Given the description of an element on the screen output the (x, y) to click on. 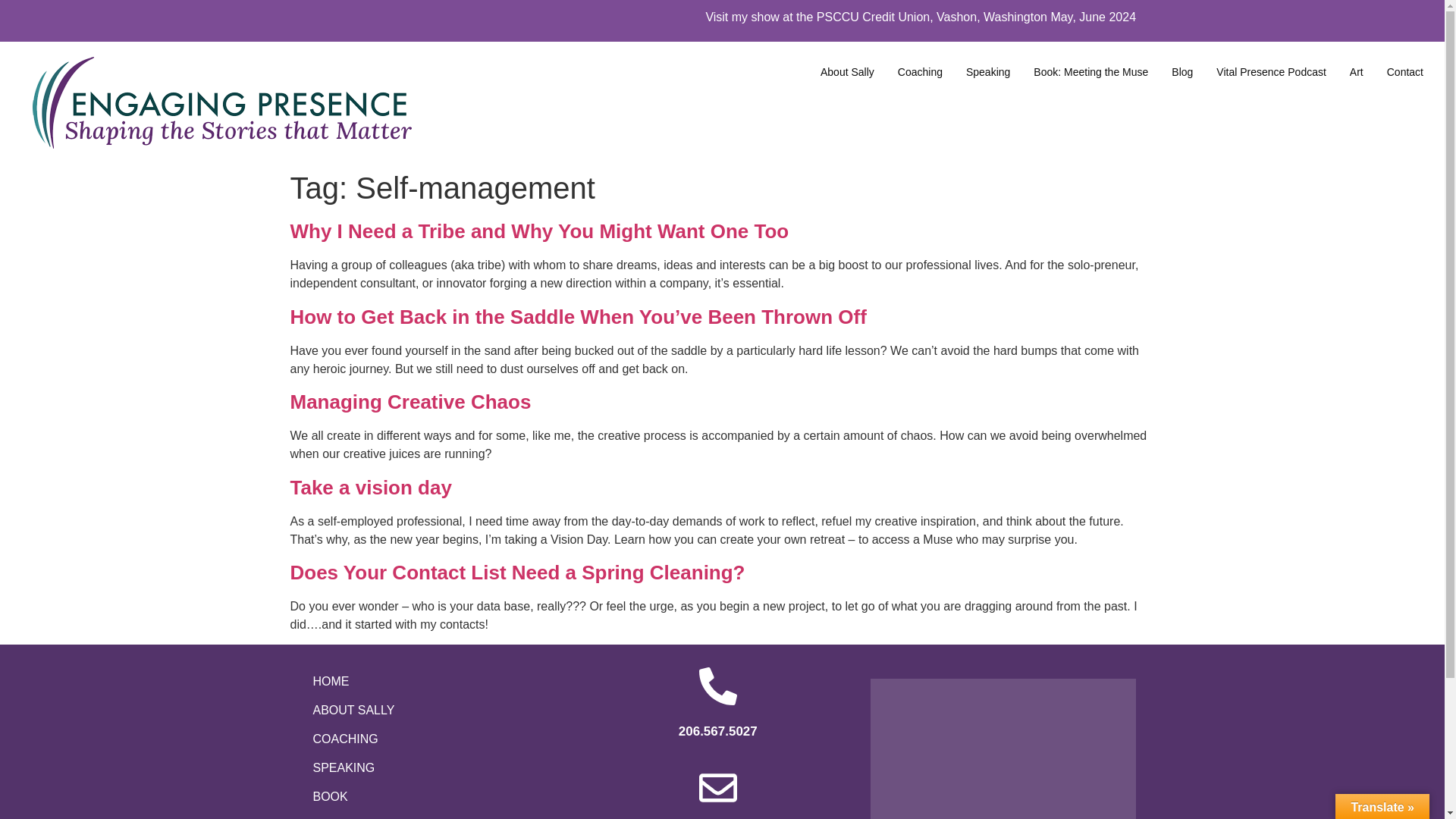
Vital Presence Podcast (1270, 71)
About Sally (846, 71)
SPEAKING (432, 767)
Blog (1182, 71)
ABOUT SALLY (432, 710)
Take a vision day (370, 486)
Does Your Contact List Need a Spring Cleaning? (516, 572)
BLOG (432, 815)
HOME (432, 681)
Book: Meeting the Muse (1090, 71)
